Given the description of an element on the screen output the (x, y) to click on. 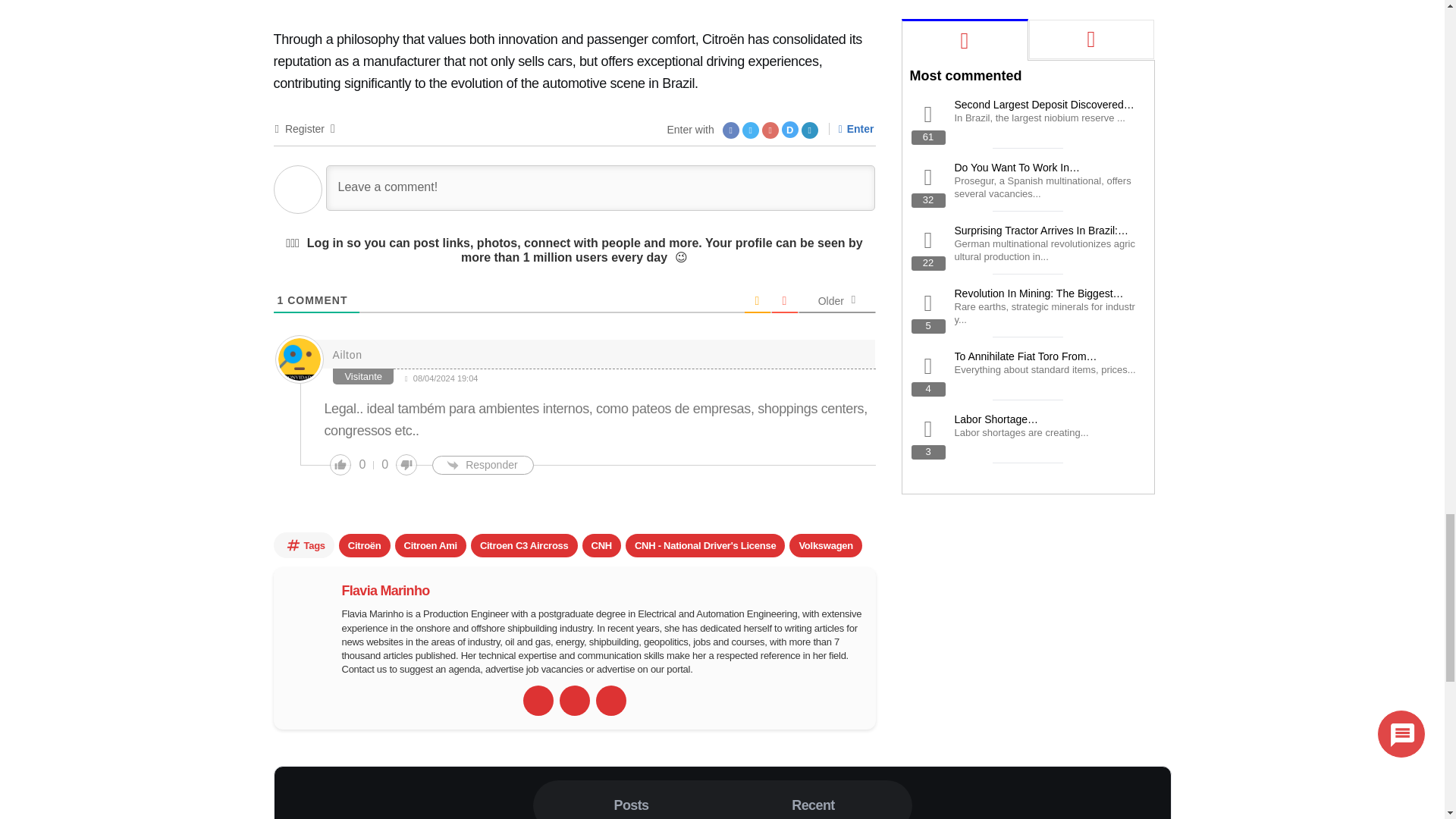
0 (361, 465)
Facebook (574, 700)
url (537, 700)
0 (385, 465)
linkedin (610, 700)
